Given the description of an element on the screen output the (x, y) to click on. 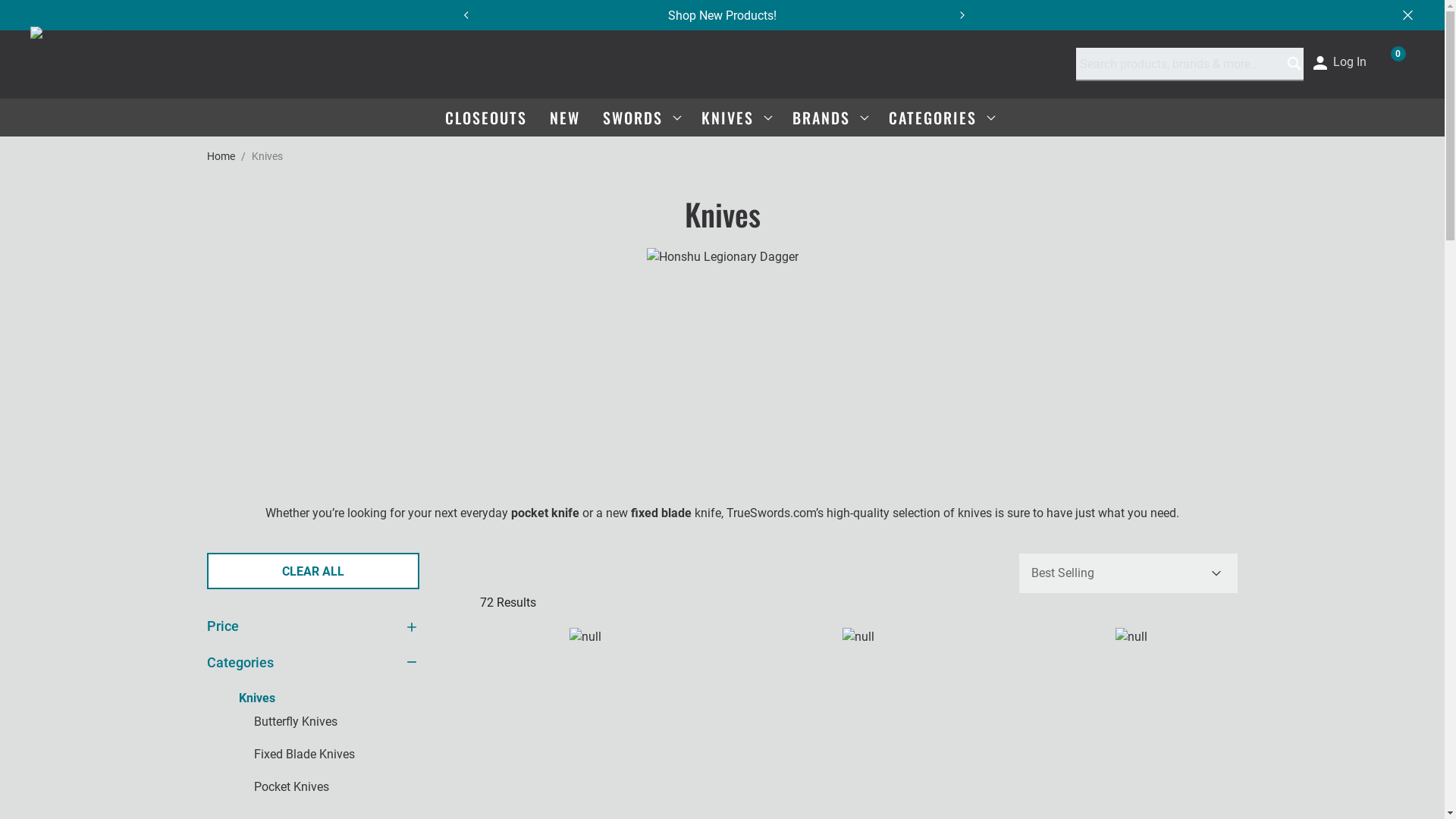
Log In (1339, 60)
Next (970, 15)
Shop New Products! (722, 14)
Previous (464, 15)
Currently Refined by Categories: Knives (253, 698)
Refine by Categories: Fixed Blade Knives (300, 754)
Refine by Categories: Pocket Knives (288, 787)
NEW (563, 117)
Commerce Cloud Storefront Reference Architecture Home (172, 64)
